Given the description of an element on the screen output the (x, y) to click on. 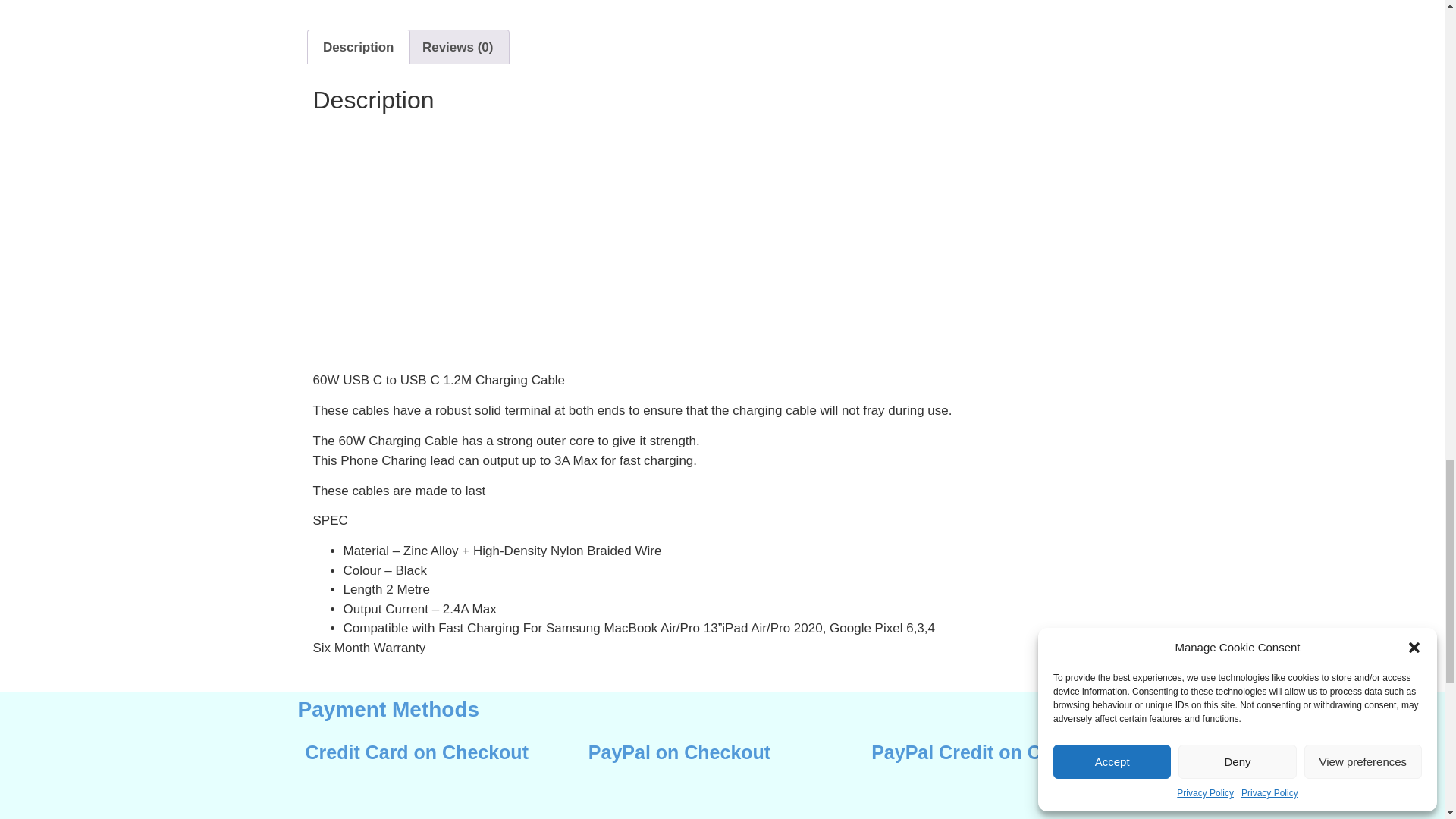
USB C Type Fast 60W Charging Cable 1.2M 1 (426, 240)
